Given the description of an element on the screen output the (x, y) to click on. 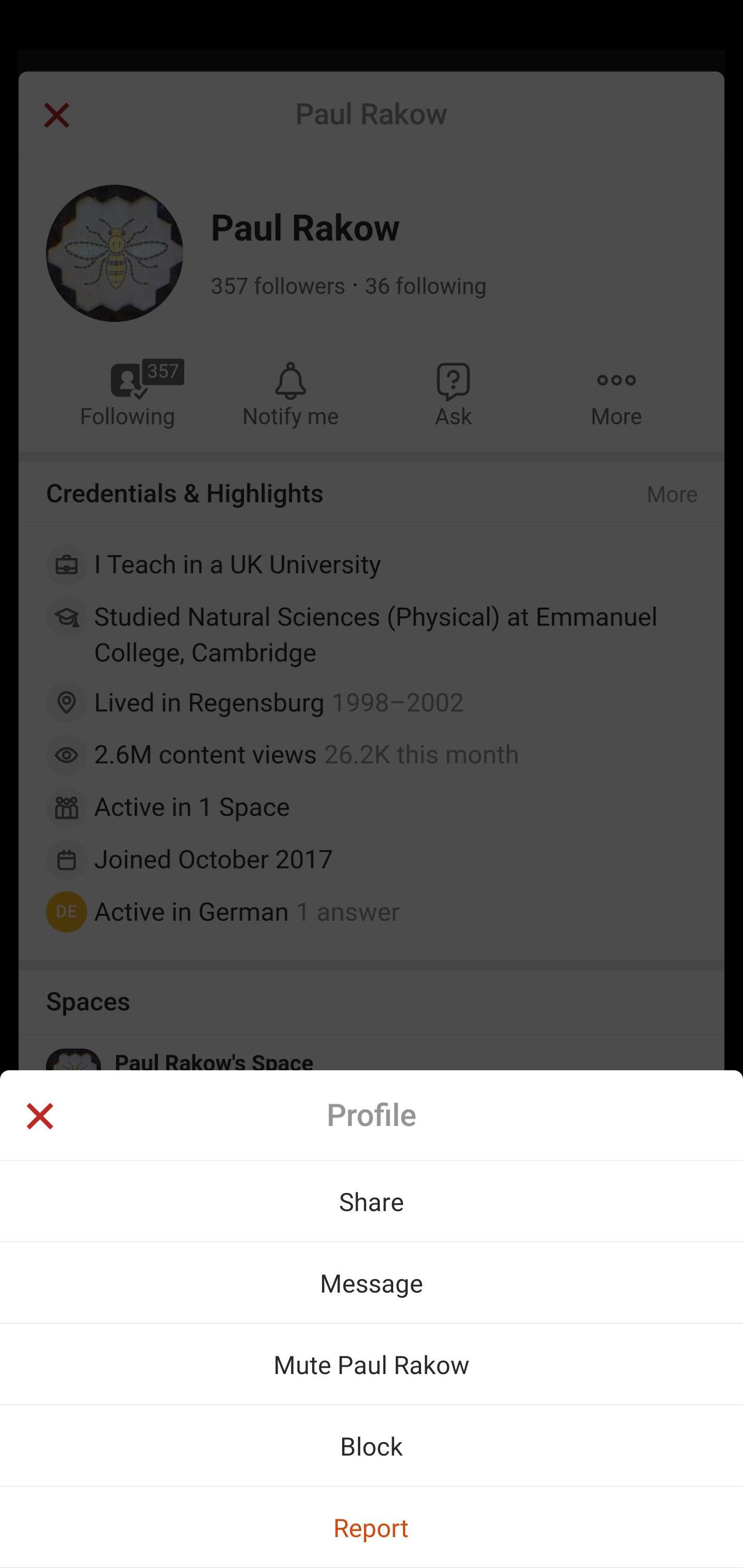
 Profile (371, 1115)
 (39, 1117)
Share (371, 1200)
Message (371, 1282)
Mute Paul Rakow (371, 1363)
Block (371, 1445)
Report (371, 1527)
